Given the description of an element on the screen output the (x, y) to click on. 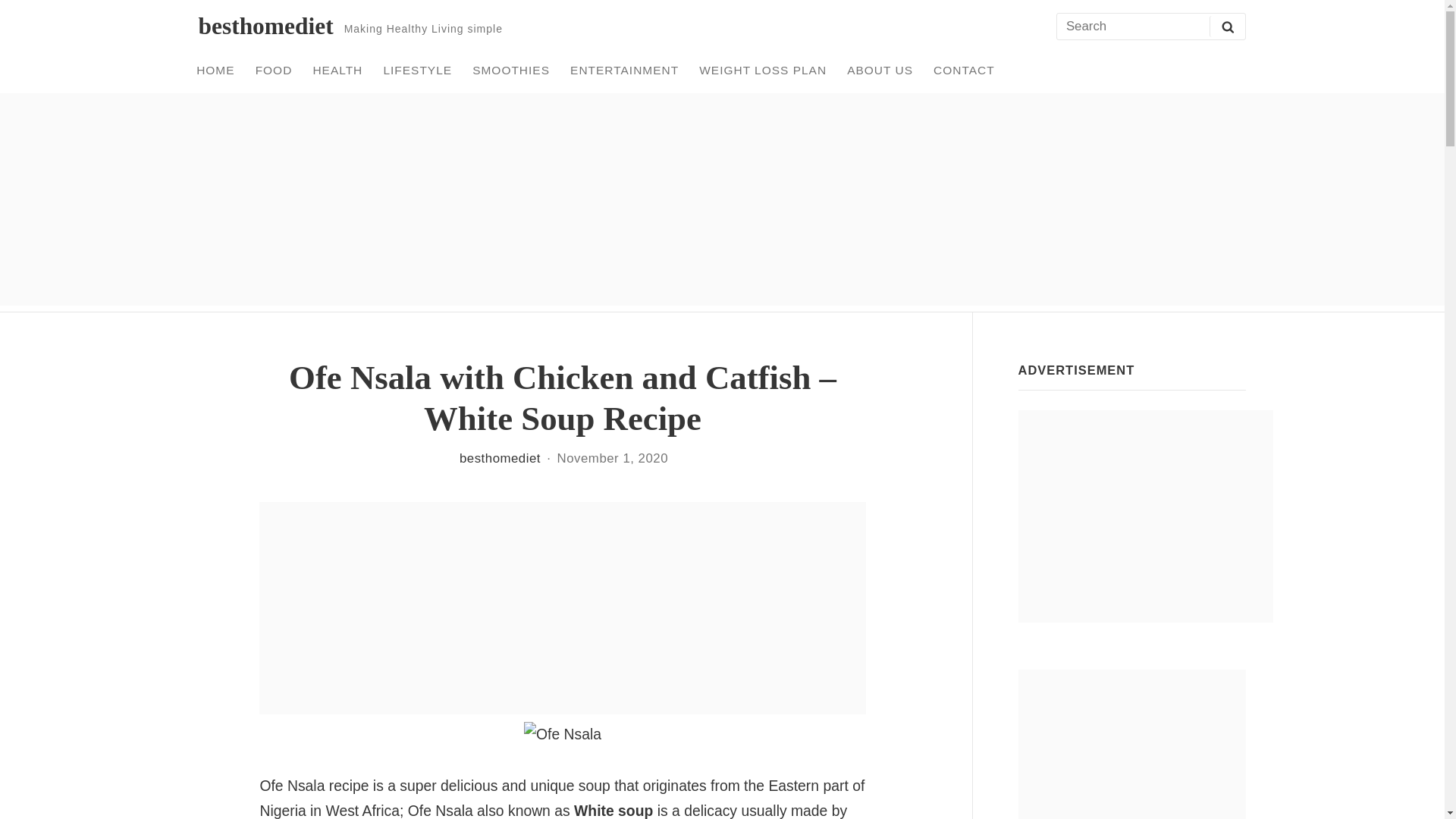
FOOD (273, 69)
Advertisement (1144, 516)
LIFESTYLE (417, 69)
CONTACT (964, 69)
Search for: (1149, 26)
SMOOTHIES (511, 69)
HOME (216, 69)
ENTERTAINMENT (624, 69)
SEARCH (1226, 25)
besthomediet (265, 25)
WEIGHT LOSS PLAN (762, 69)
ABOUT US (880, 69)
Advertisement (1130, 744)
HEALTH (337, 69)
